Given the description of an element on the screen output the (x, y) to click on. 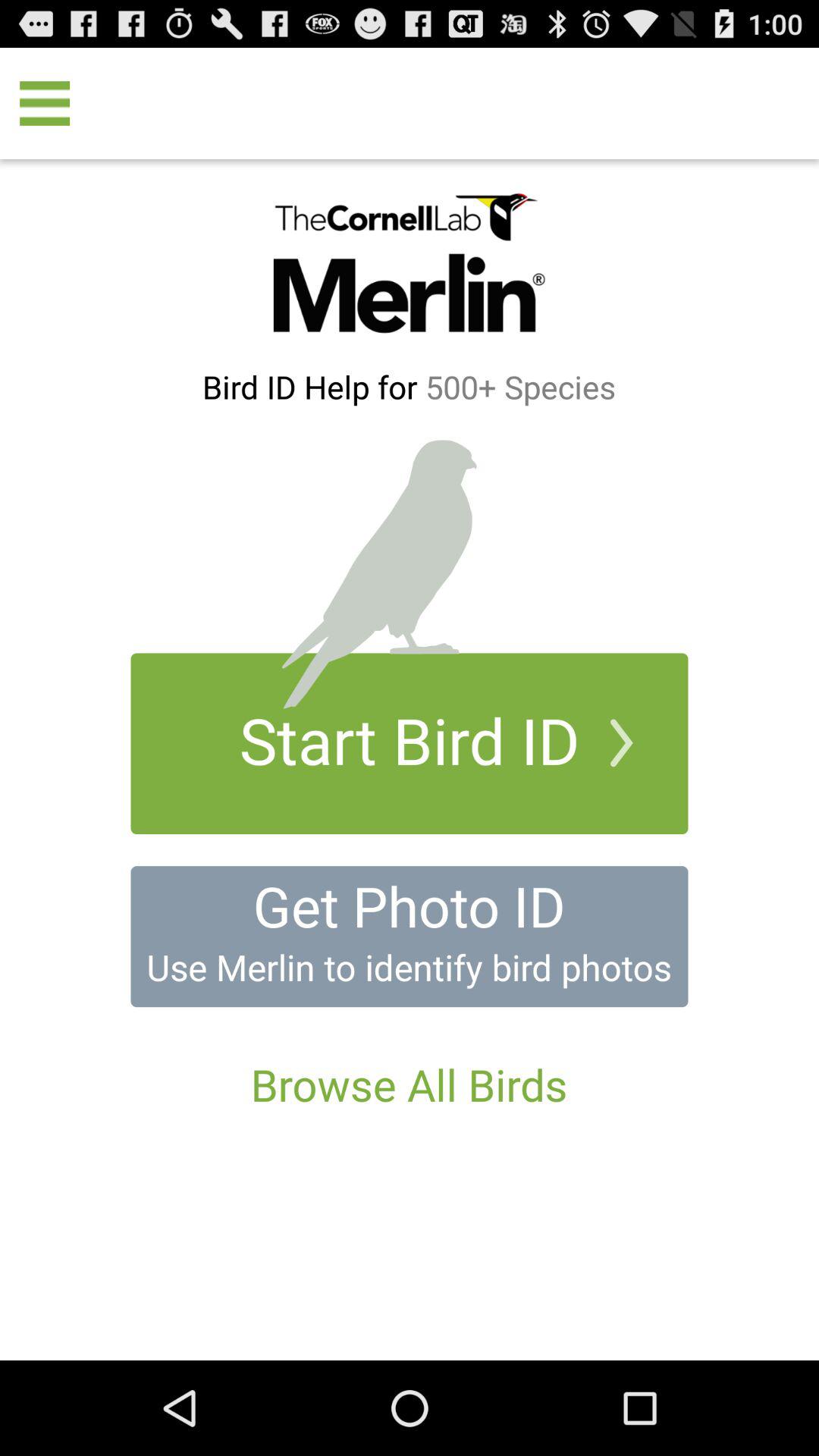
press the item at the bottom (408, 1084)
